Given the description of an element on the screen output the (x, y) to click on. 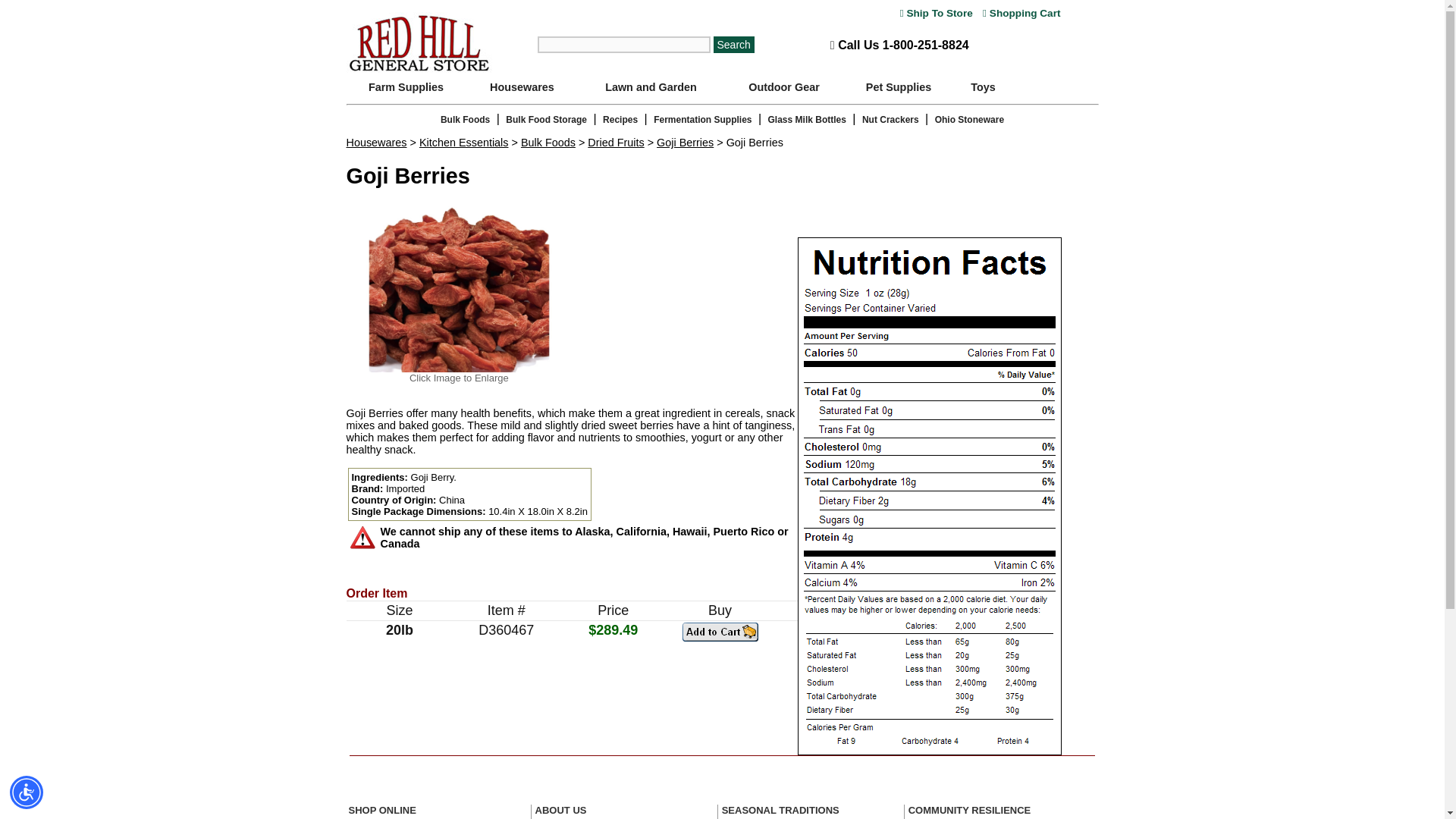
Lawn and Garden (650, 87)
Call Us 1-800-251-8824 (899, 44)
Accessibility Menu (26, 792)
Search (733, 44)
Farm Supplies (405, 87)
Ship To Store (935, 12)
Shopping Cart (1020, 12)
Search (733, 44)
Housewares (522, 87)
